Given the description of an element on the screen output the (x, y) to click on. 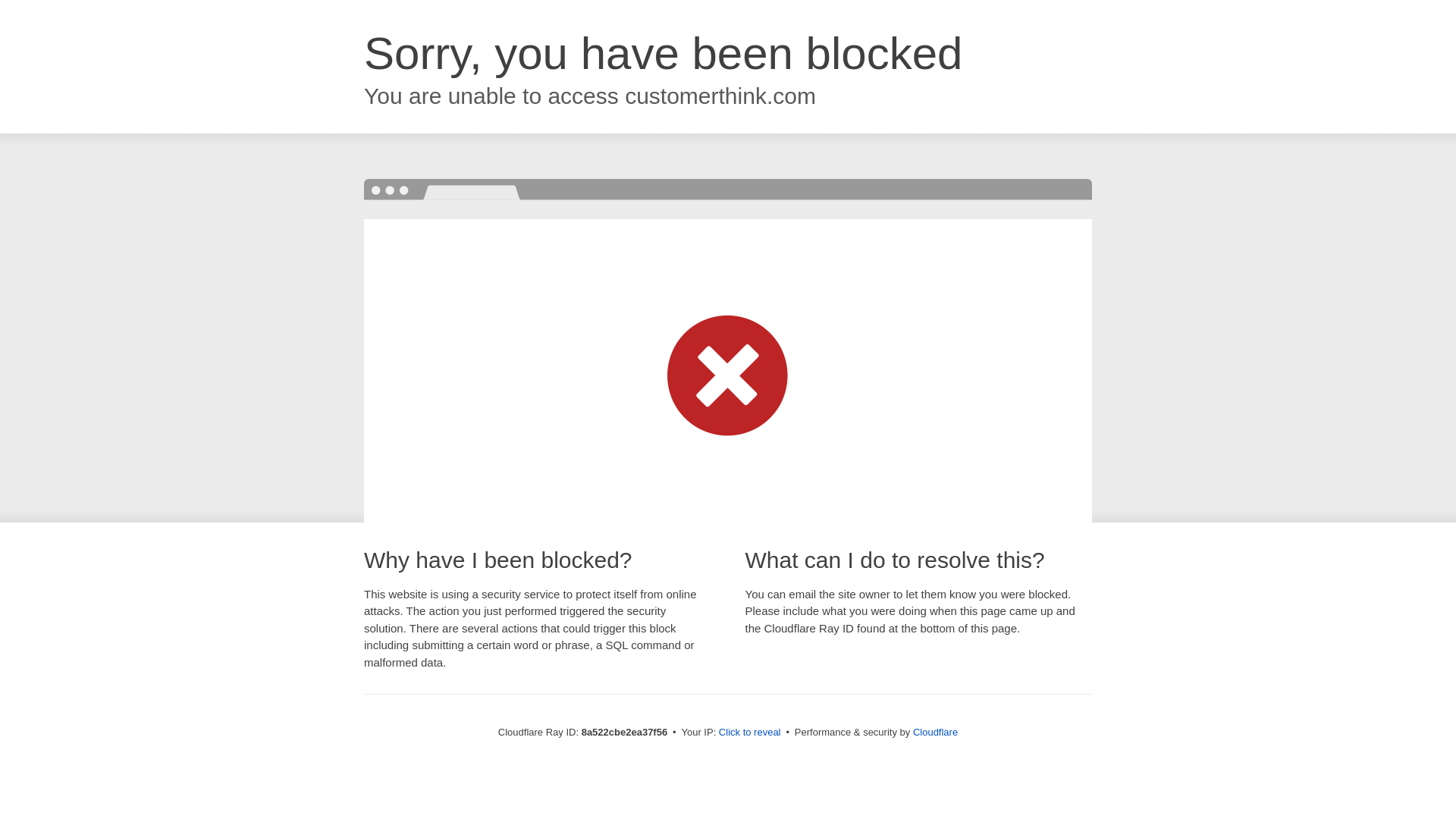
Cloudflare (935, 731)
Click to reveal (749, 732)
